Given the description of an element on the screen output the (x, y) to click on. 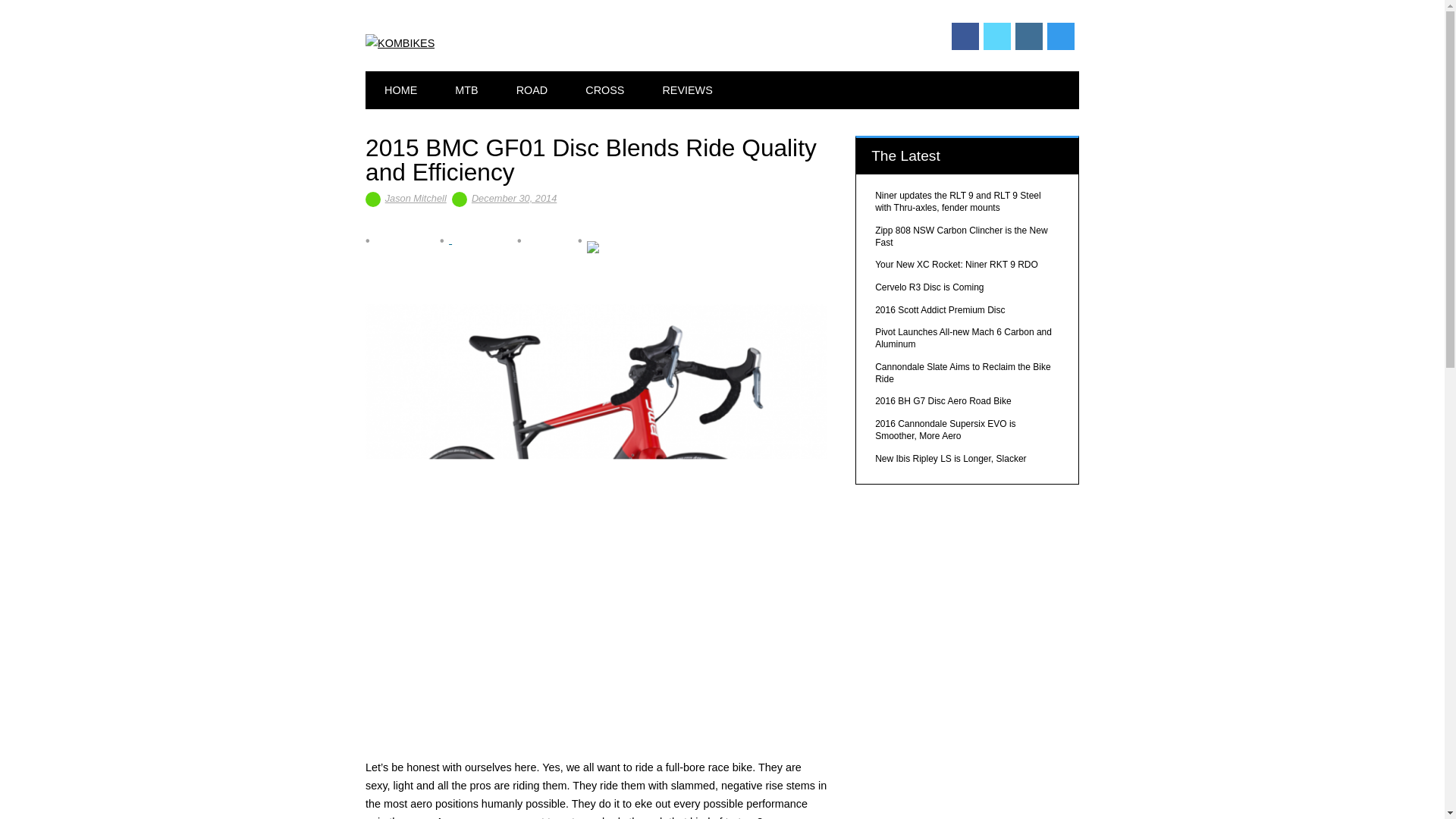
December 30, 2014 (513, 197)
2016 Cannondale Supersix EVO is Smoother, More Aero (944, 429)
Twitter (997, 35)
8:03 am (513, 197)
KOMBIKES (399, 42)
HOME (400, 89)
Cannondale Slate Aims to Reclaim the Bike Ride (962, 372)
New Ibis Ripley LS is Longer, Slacker (950, 458)
Instagram (1028, 35)
